Given the description of an element on the screen output the (x, y) to click on. 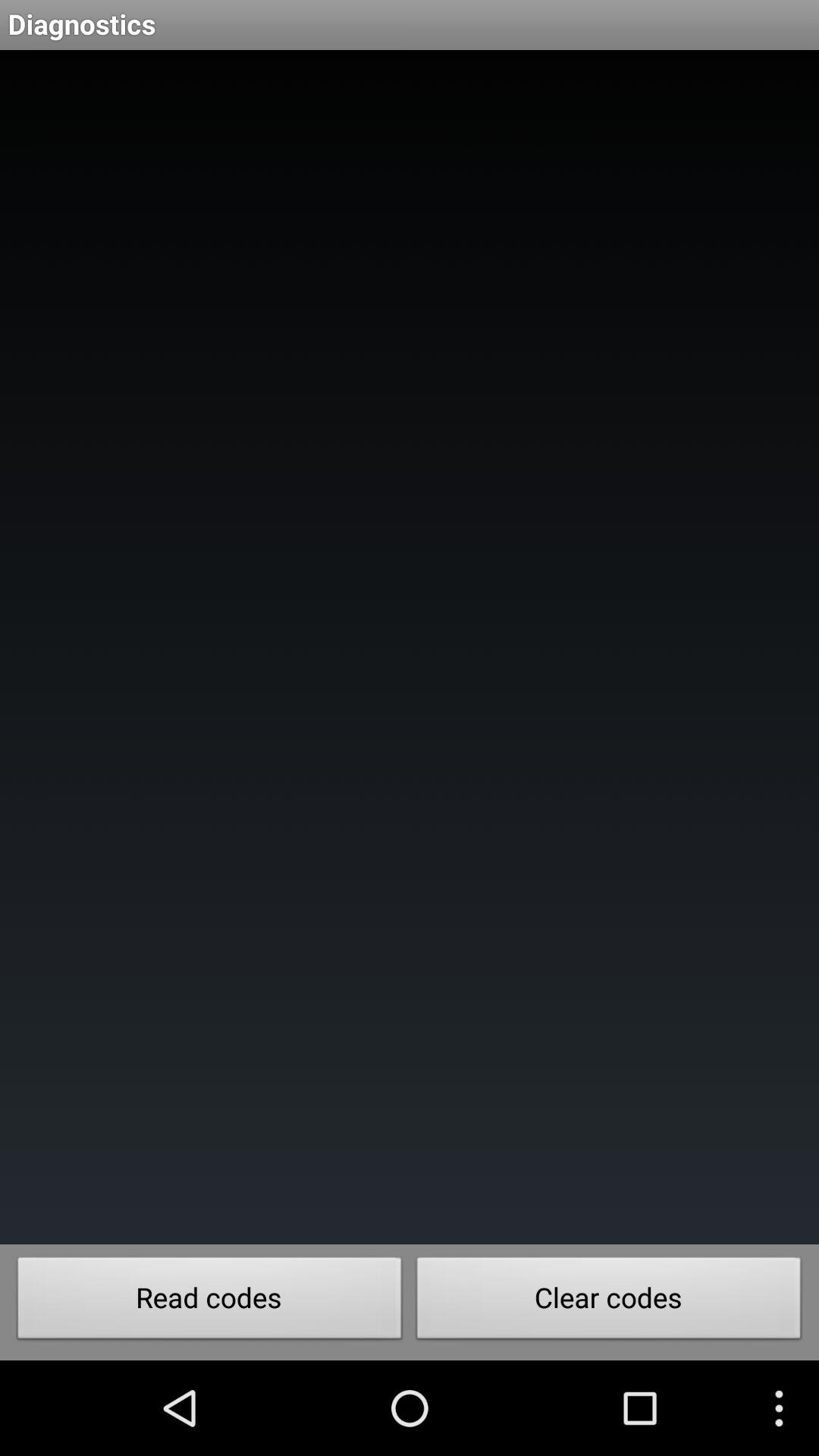
scroll to read codes (209, 1302)
